Given the description of an element on the screen output the (x, y) to click on. 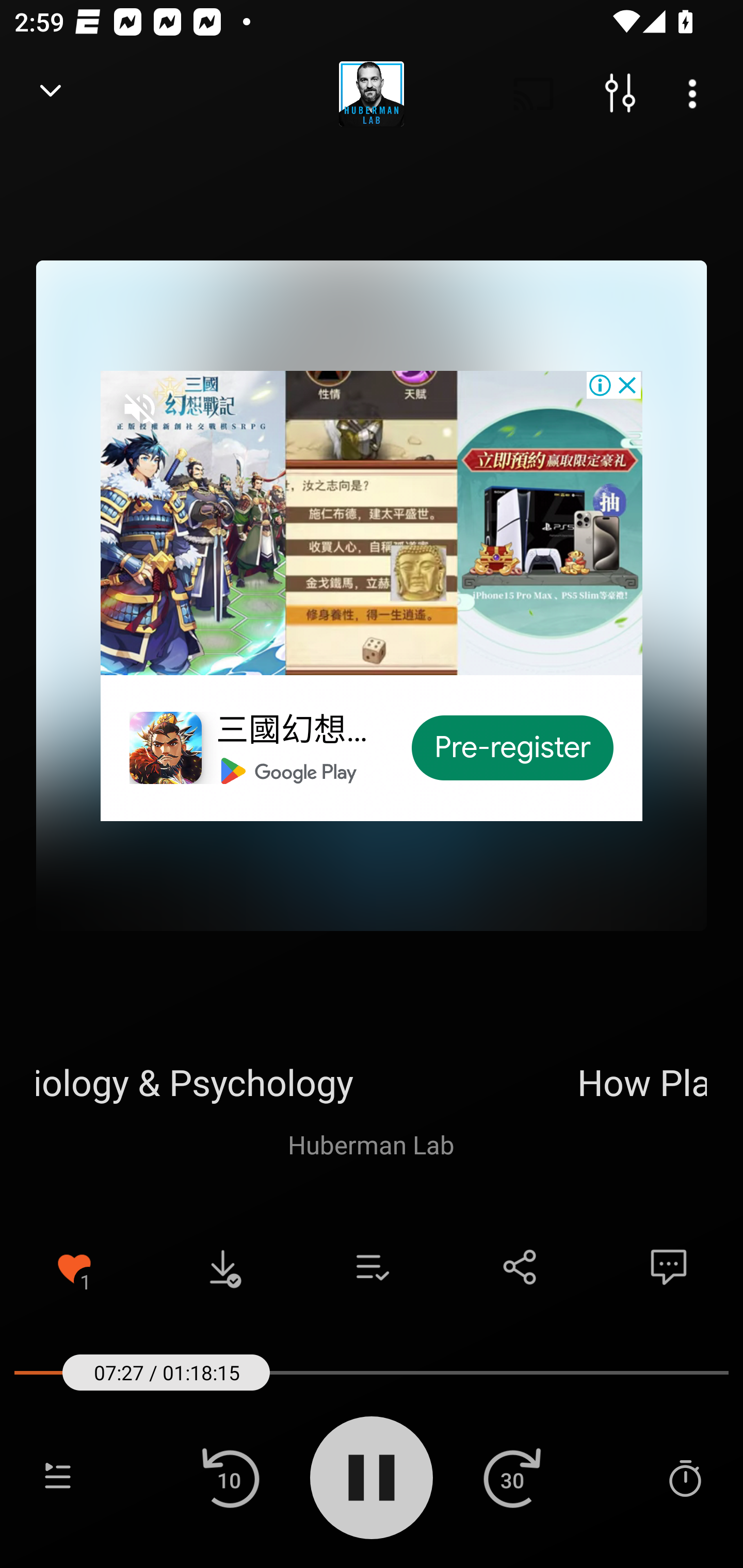
Cast. Disconnected (533, 93)
 Back (50, 94)
三國幻想… Pre-register Pre-register (371, 595)
Pre-register (512, 747)
Huberman Lab (370, 1144)
Comments (668, 1266)
Remove from Favorites (73, 1266)
Add to playlist (371, 1266)
Share (519, 1266)
 Playlist (57, 1477)
Sleep Timer  (684, 1477)
